Given the description of an element on the screen output the (x, y) to click on. 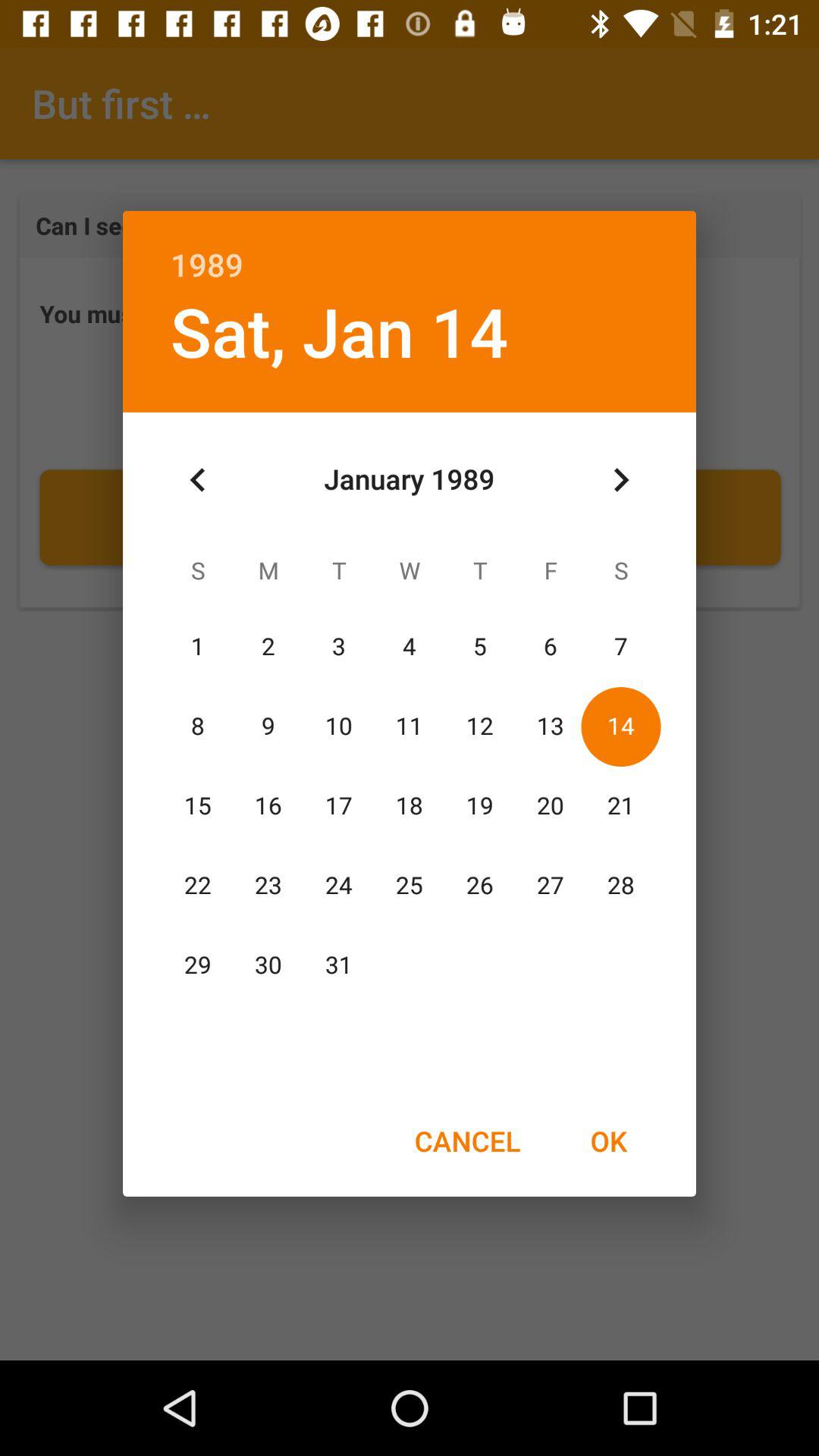
click the icon next to ok icon (467, 1140)
